Given the description of an element on the screen output the (x, y) to click on. 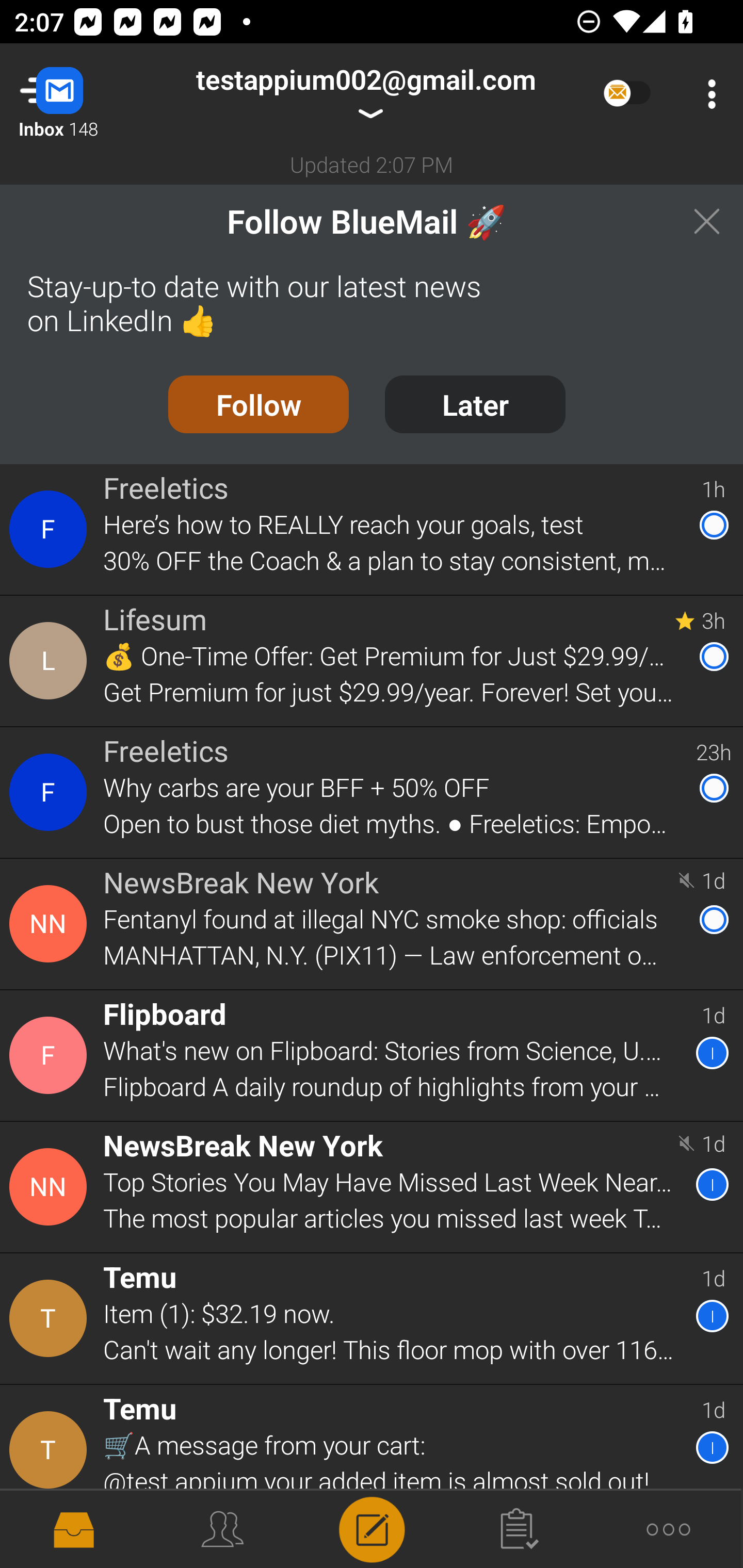
Navigate up (81, 93)
testappium002@gmail.com (365, 93)
More Options (706, 93)
Updated 2:07 PM (371, 164)
Follow (257, 403)
Later (474, 403)
Contact Details (50, 529)
Contact Details (50, 660)
Contact Details (50, 792)
Contact Details (50, 924)
Contact Details (50, 1055)
Contact Details (50, 1186)
Contact Details (50, 1318)
Contact Details (50, 1449)
Compose (371, 1528)
